Given the description of an element on the screen output the (x, y) to click on. 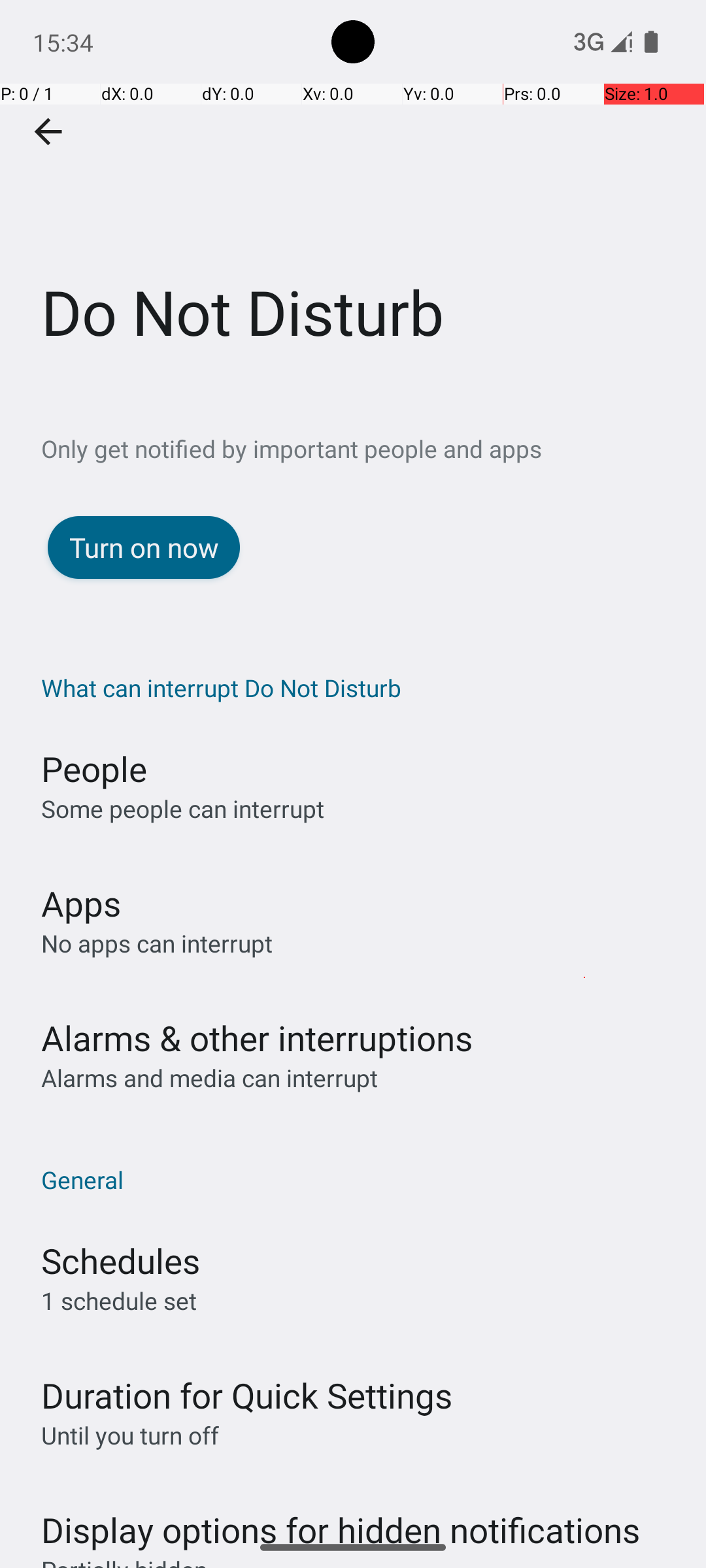
Only get notified by important people and apps Element type: android.widget.TextView (373, 448)
Turn on now Element type: android.widget.Button (143, 547)
What can interrupt Do Not Disturb Element type: android.widget.TextView (359, 687)
People Element type: android.widget.TextView (94, 768)
Some people can interrupt Element type: android.widget.TextView (182, 808)
No apps can interrupt Element type: android.widget.TextView (156, 942)
Alarms & other interruptions Element type: android.widget.TextView (256, 1037)
Alarms and media can interrupt Element type: android.widget.TextView (209, 1077)
Schedules Element type: android.widget.TextView (120, 1260)
1 schedule set Element type: android.widget.TextView (118, 1300)
Duration for Quick Settings Element type: android.widget.TextView (246, 1395)
Until you turn off Element type: android.widget.TextView (129, 1434)
Display options for hidden notifications Element type: android.widget.TextView (340, 1516)
